Given the description of an element on the screen output the (x, y) to click on. 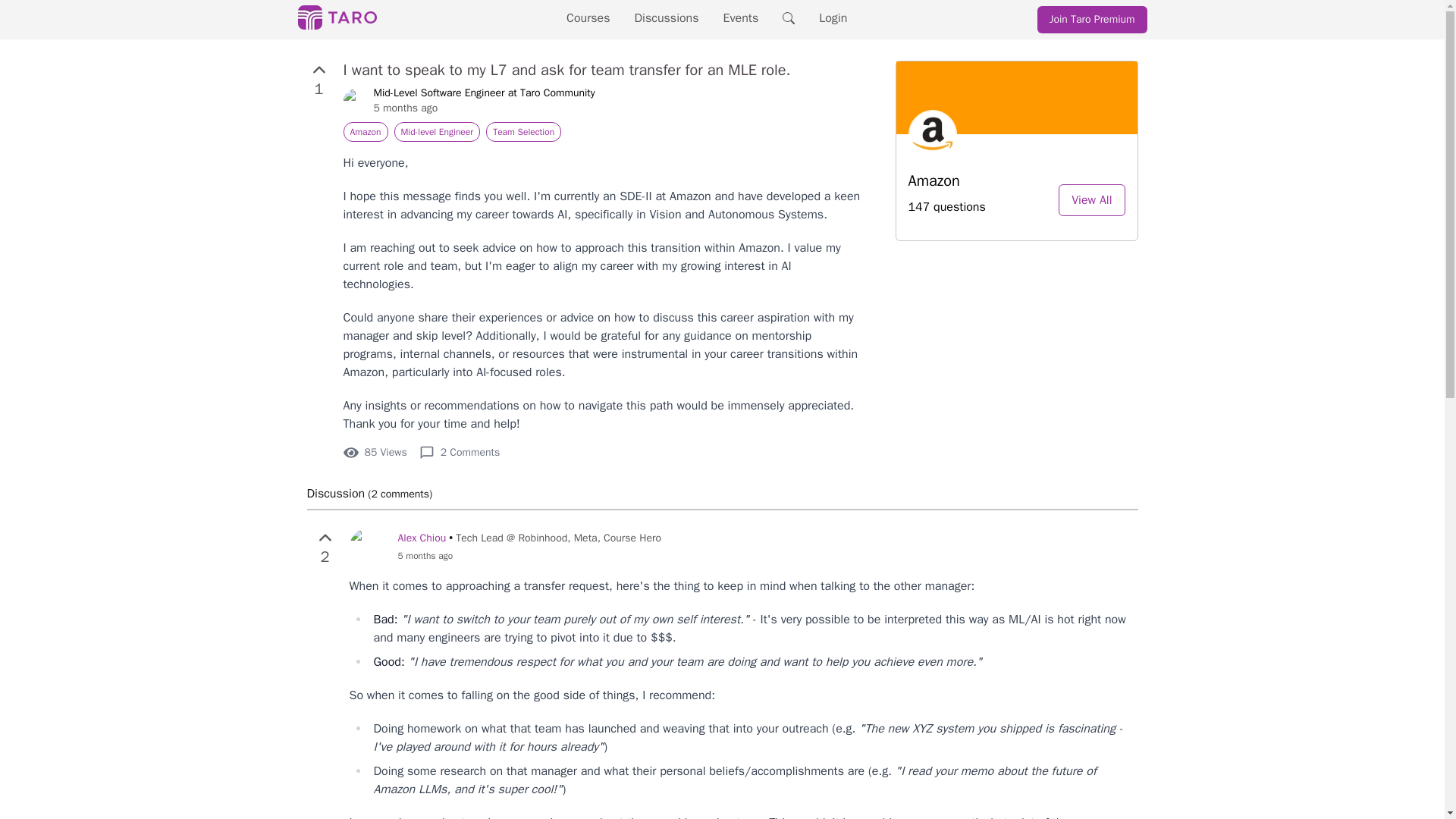
View All (1091, 200)
Friday March 8, 7:00pm (529, 555)
Team Selection (523, 131)
Events (740, 17)
Alex Chiou (421, 537)
View All (1091, 200)
Discussions (666, 17)
Courses (588, 17)
Amazon (364, 131)
Mid-level Engineer (437, 131)
